Given the description of an element on the screen output the (x, y) to click on. 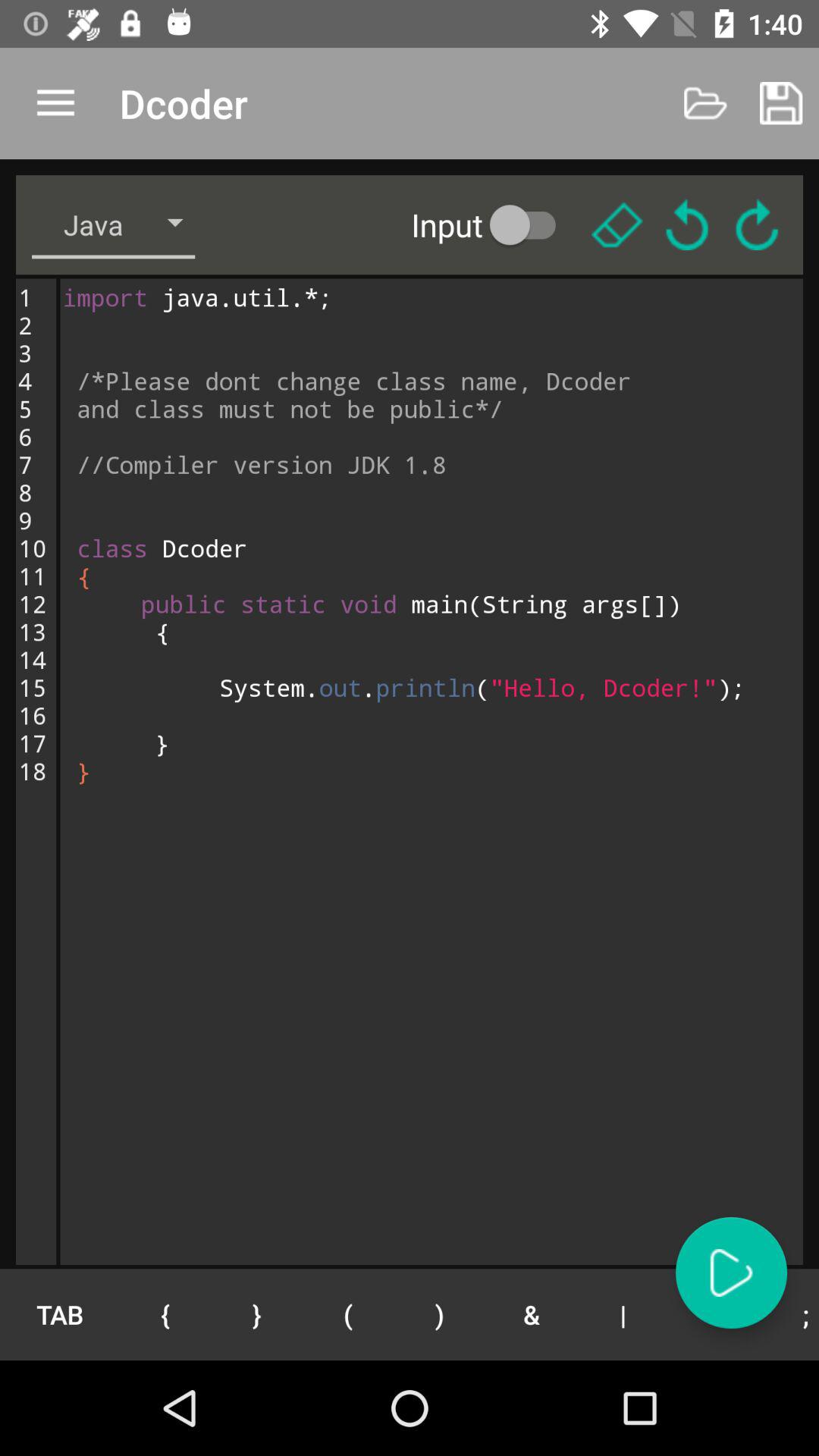
launch the icon to the right of the & (622, 1314)
